Given the description of an element on the screen output the (x, y) to click on. 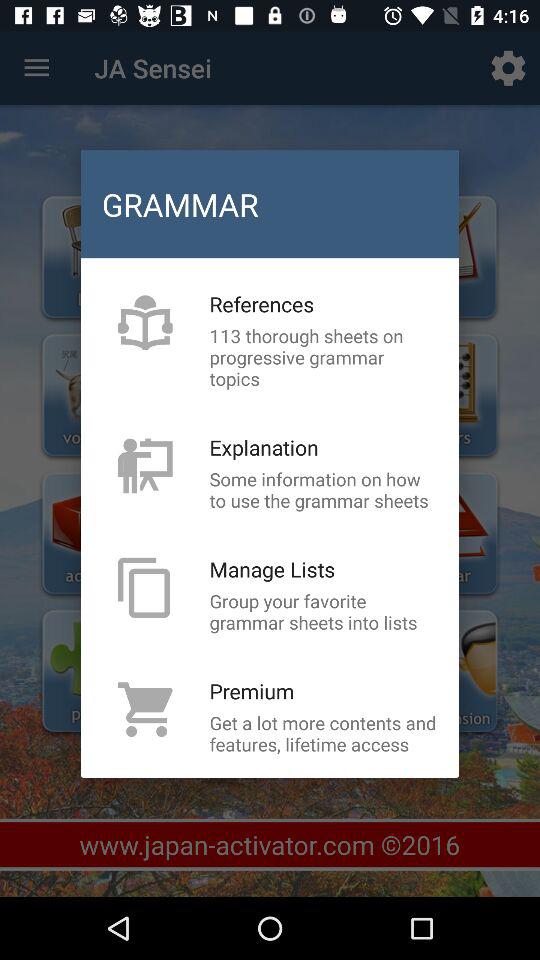
click the some information on icon (323, 489)
